Given the description of an element on the screen output the (x, y) to click on. 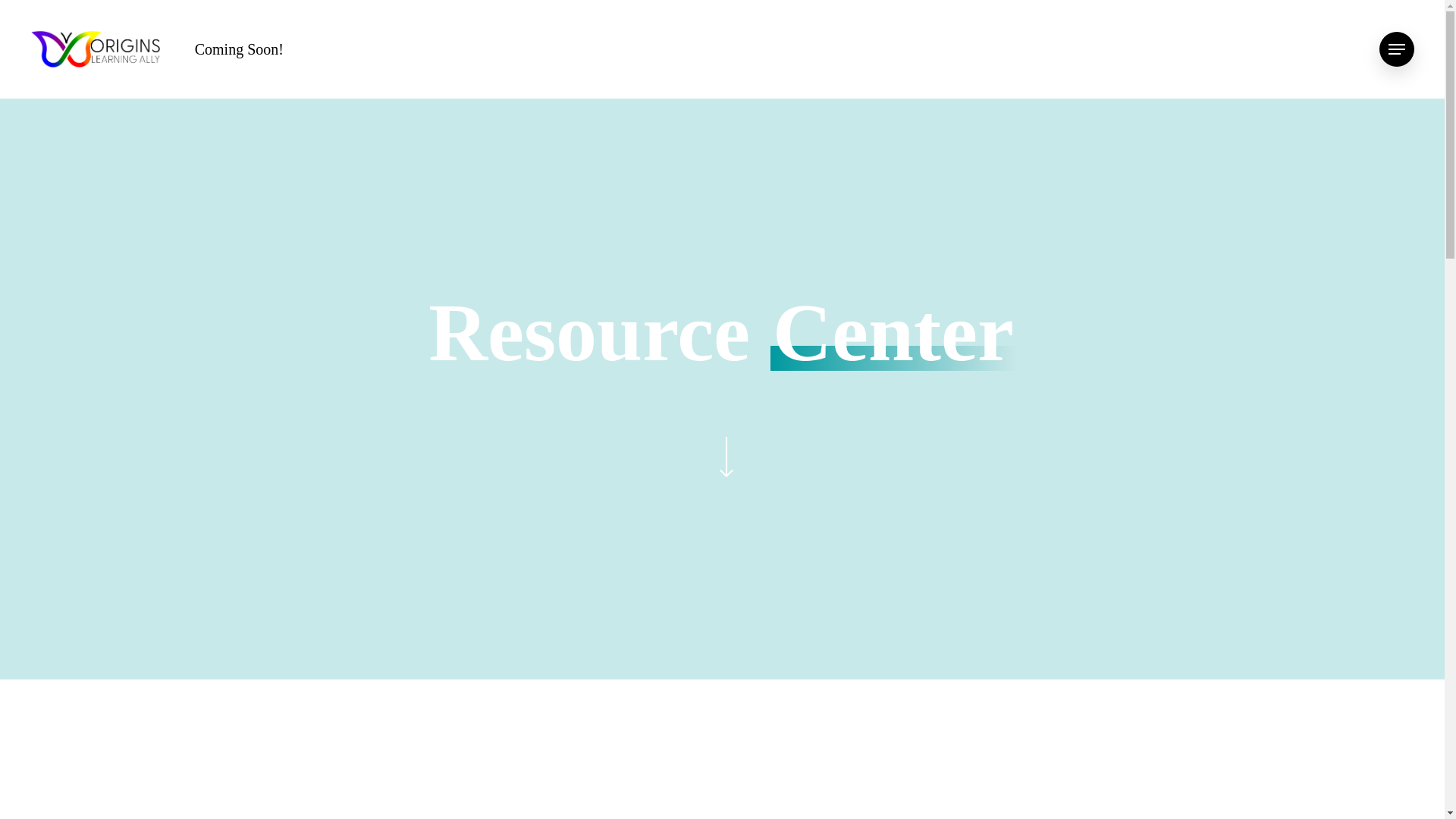
Coming Soon! (239, 48)
Menu (1395, 48)
